Given the description of an element on the screen output the (x, y) to click on. 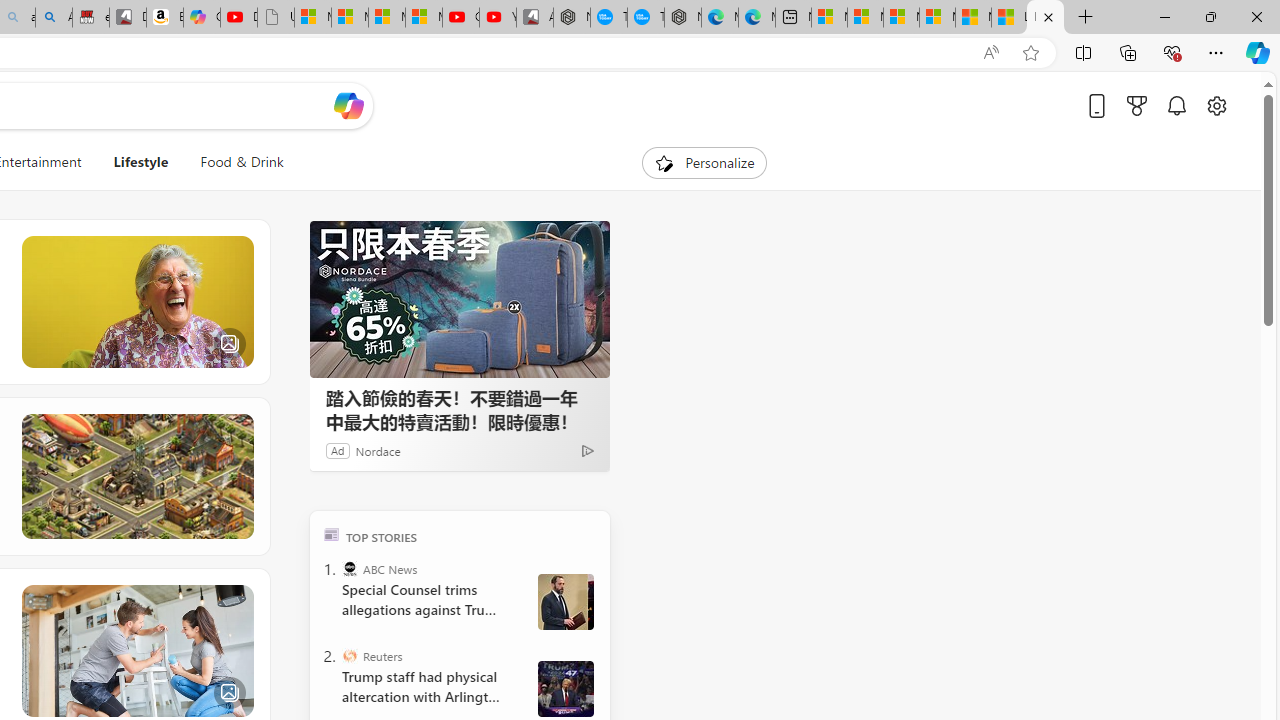
Open Copilot (347, 105)
Microsoft Start (973, 17)
Nordace - My Account (572, 17)
All Cubot phones (534, 17)
Open Copilot (347, 105)
